Given the description of an element on the screen output the (x, y) to click on. 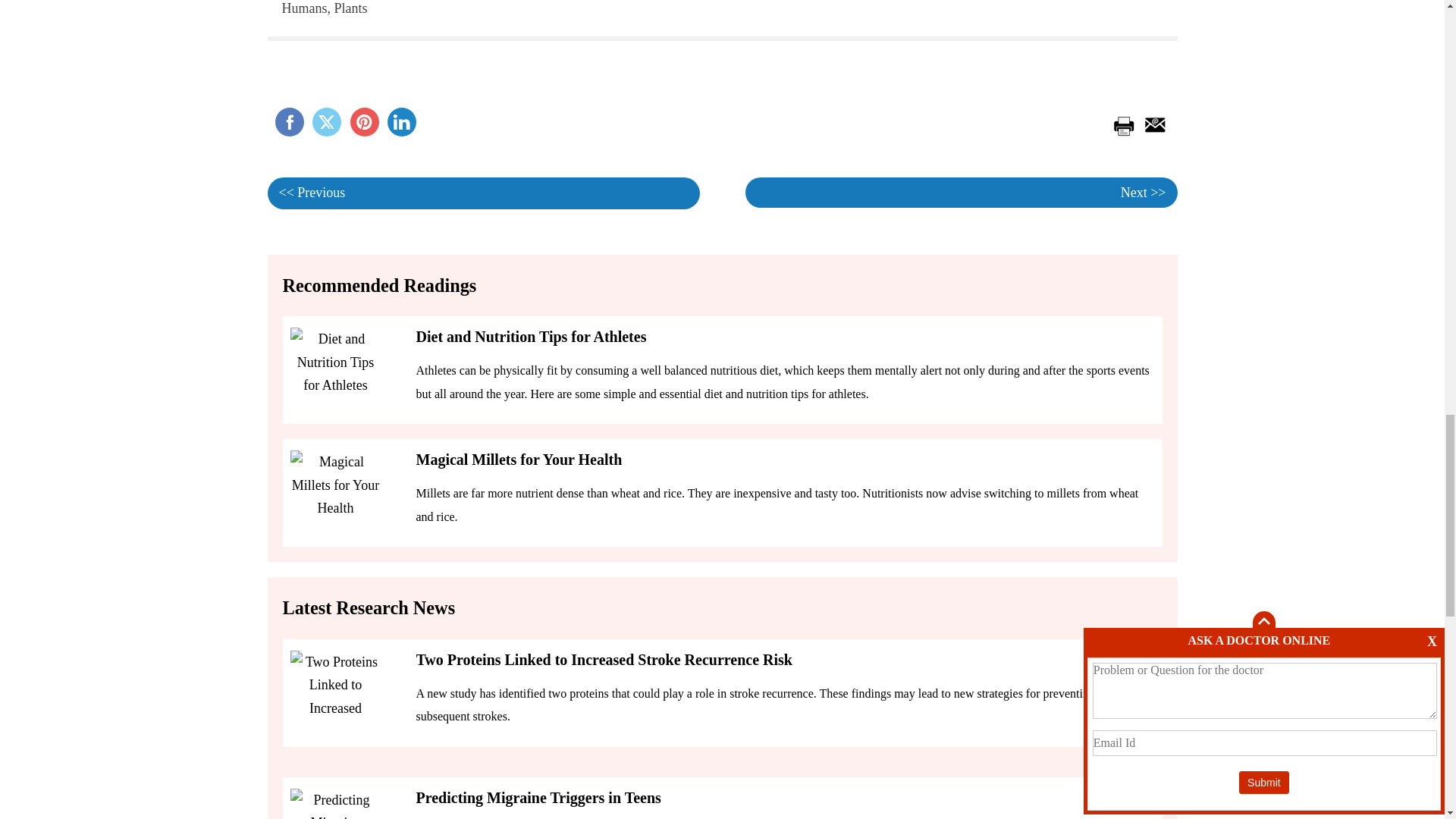
Email This (1152, 122)
Two Proteins Linked to Increased Stroke Recurrence Risk (364, 121)
Twitter (334, 688)
Linkedin (326, 121)
Facebook (401, 121)
Facebook (288, 121)
Predicting Migraine Triggers in Teens (288, 121)
Diet and Nutrition Tips for Athletes (334, 803)
Twitter (530, 336)
Linkedin (326, 121)
Pinterest (401, 121)
